Given the description of an element on the screen output the (x, y) to click on. 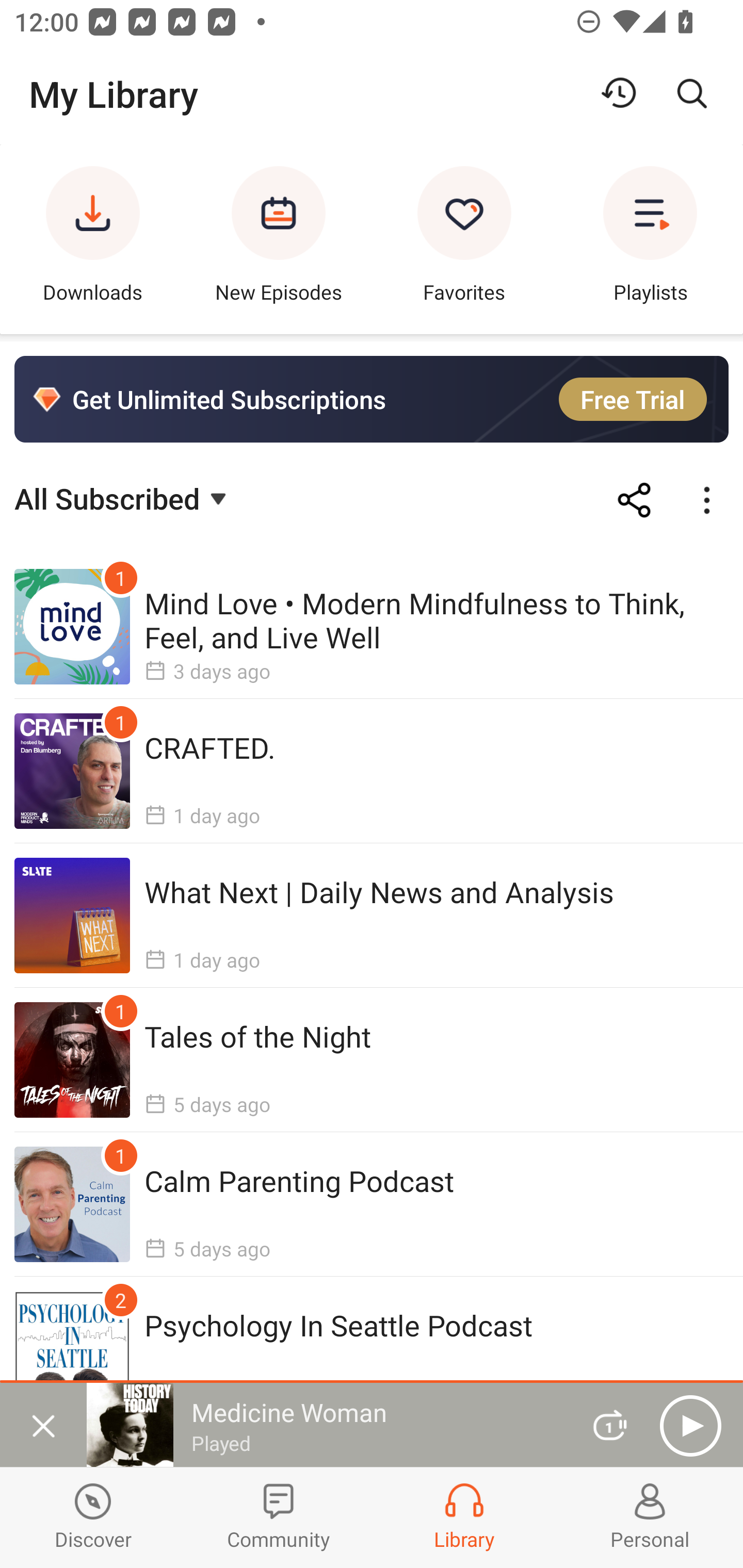
Downloads (92, 238)
New Episodes (278, 238)
Favorites (464, 238)
Playlists (650, 238)
Get Unlimited Subscriptions Free Trial (371, 398)
Free Trial (632, 398)
All Subscribed (123, 497)
CRAFTED. 1 CRAFTED.  1 day ago (371, 771)
Medicine Woman Played (326, 1424)
Play (690, 1425)
Discover (92, 1517)
Community (278, 1517)
Library (464, 1517)
Profiles and Settings Personal (650, 1517)
